Given the description of an element on the screen output the (x, y) to click on. 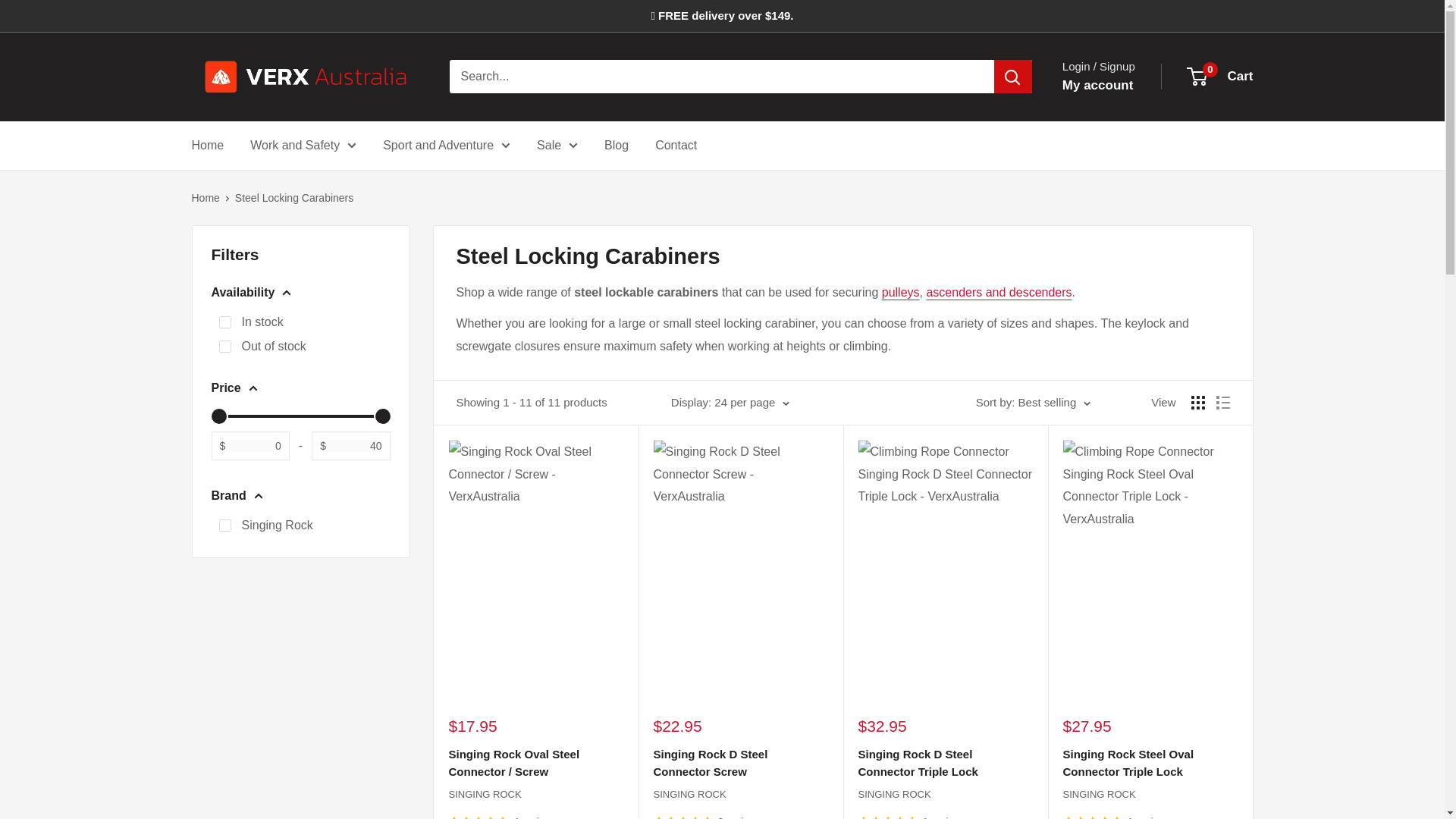
Pulleys (901, 291)
0 (224, 346)
Singing Rock (224, 525)
40 (300, 415)
1 (224, 322)
0 (300, 415)
